Given the description of an element on the screen output the (x, y) to click on. 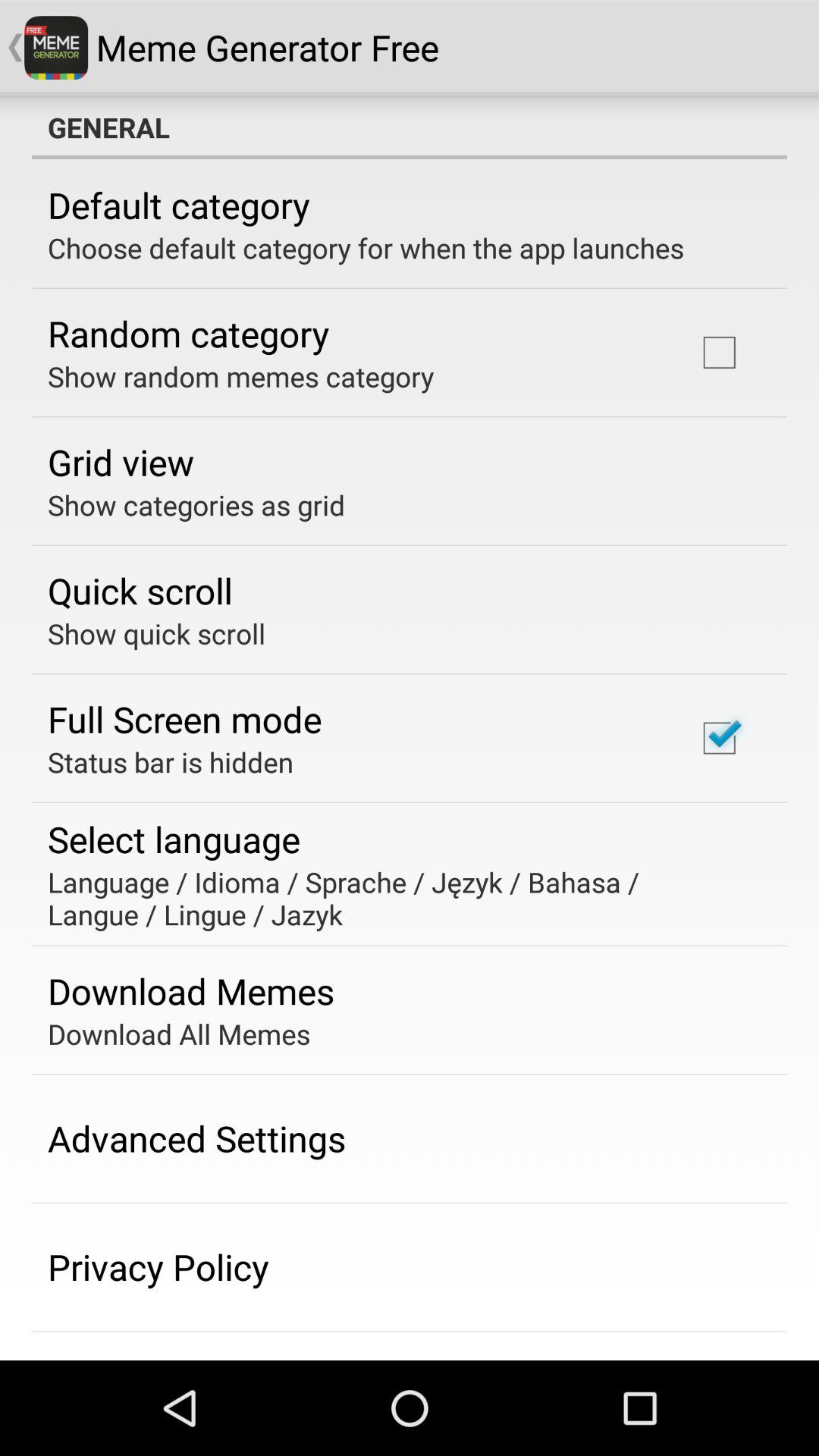
click the item above default category item (409, 127)
